Given the description of an element on the screen output the (x, y) to click on. 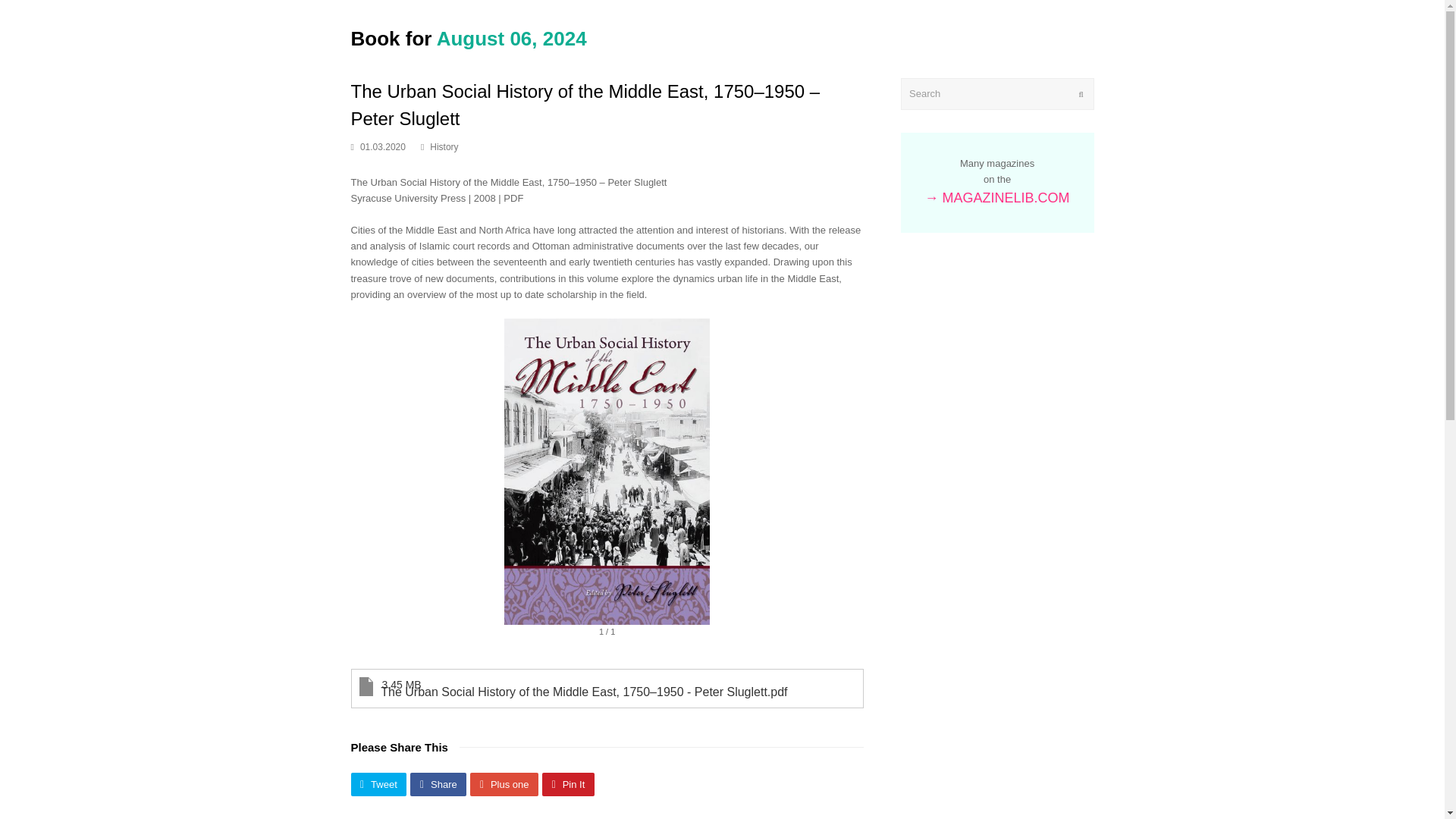
Submit (1080, 93)
New books every day - PDF, FB2 download (468, 38)
Share on Twitter (378, 784)
History (443, 146)
Tweet (378, 784)
Share on Pinterest (567, 784)
Share on Facebook (437, 784)
Share (437, 784)
Book for August 06, 2024 (468, 38)
Pin It (567, 784)
Plus one (504, 784)
